Given the description of an element on the screen output the (x, y) to click on. 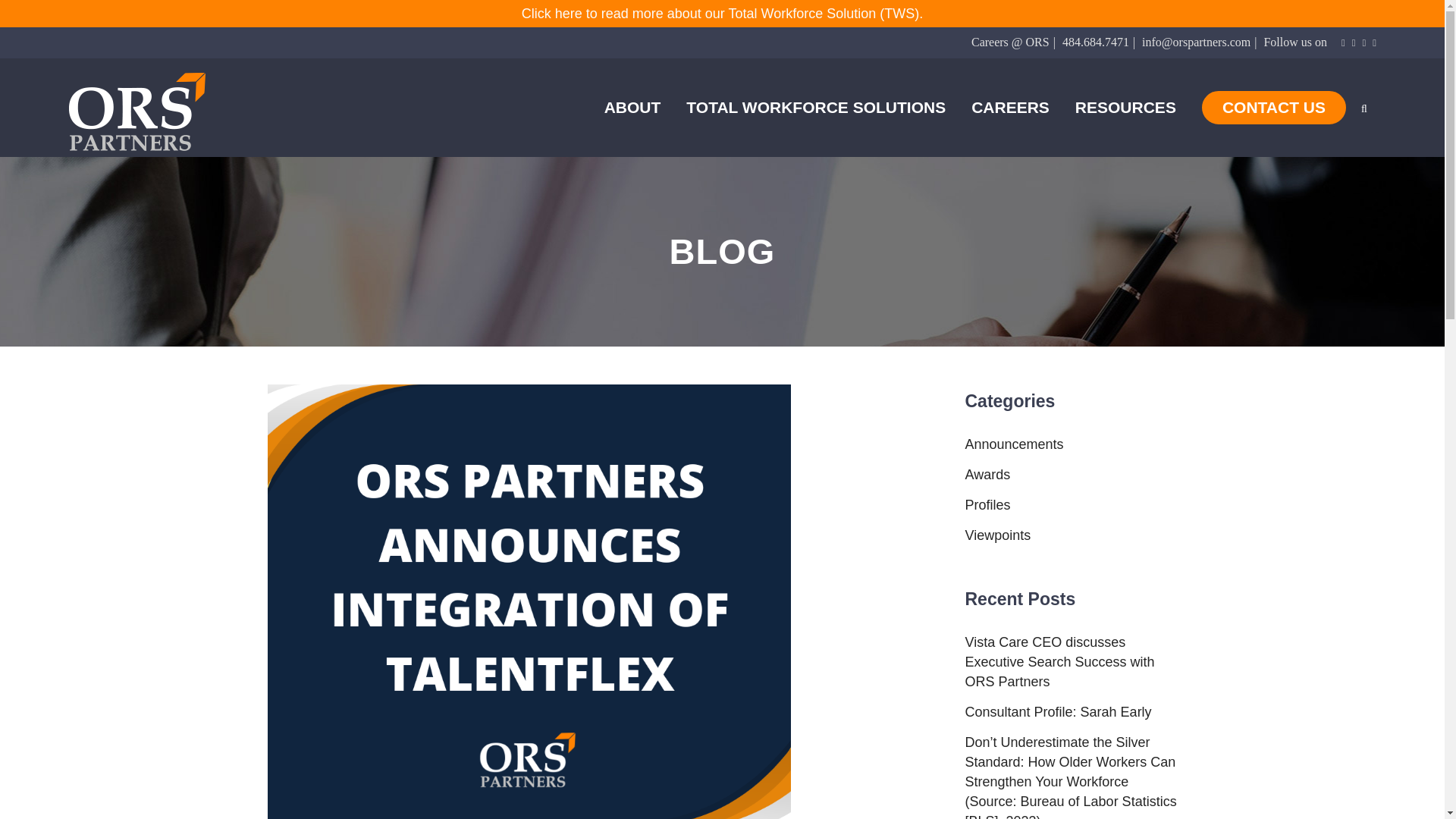
RESOURCES (1125, 107)
CONTACT US (1267, 107)
CAREERS (1010, 107)
484.684.7471 (1095, 42)
TOTAL WORKFORCE SOLUTIONS (815, 107)
